Given the description of an element on the screen output the (x, y) to click on. 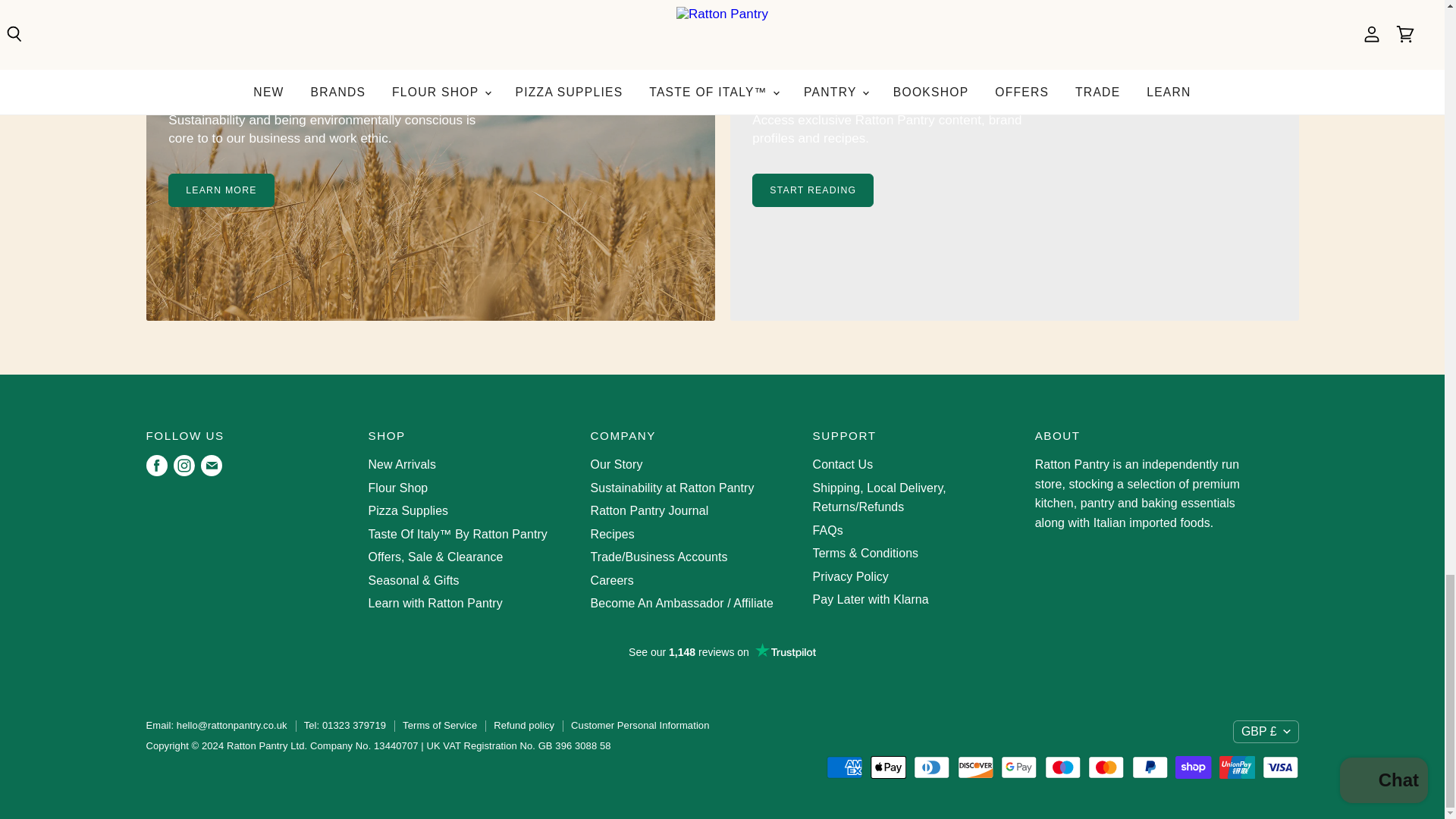
Facebook (156, 465)
Instagram (183, 465)
E-mail (210, 465)
